Given the description of an element on the screen output the (x, y) to click on. 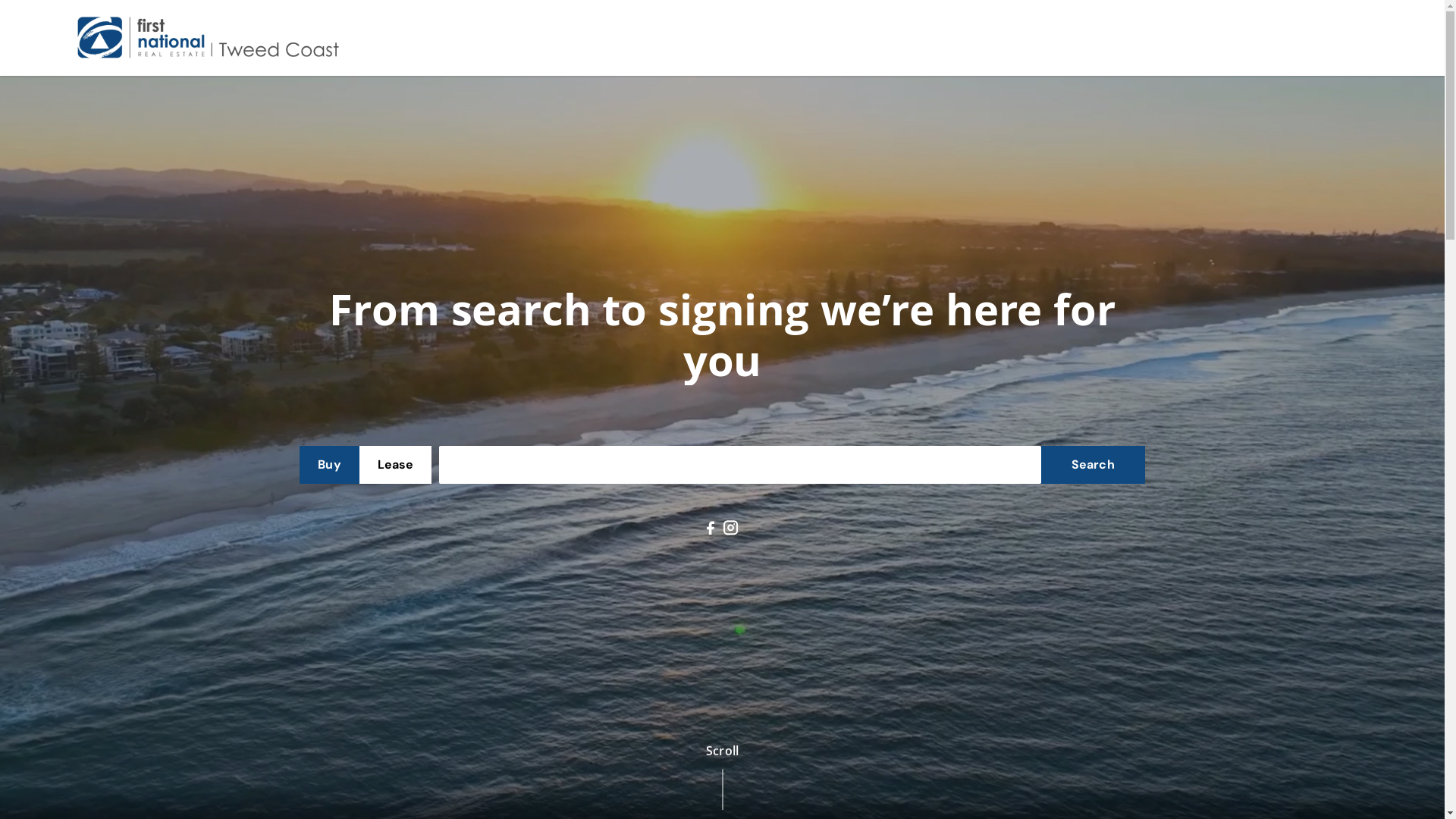
Buy Element type: text (328, 464)
Lease Element type: text (395, 464)
Search Element type: text (1092, 464)
